Given the description of an element on the screen output the (x, y) to click on. 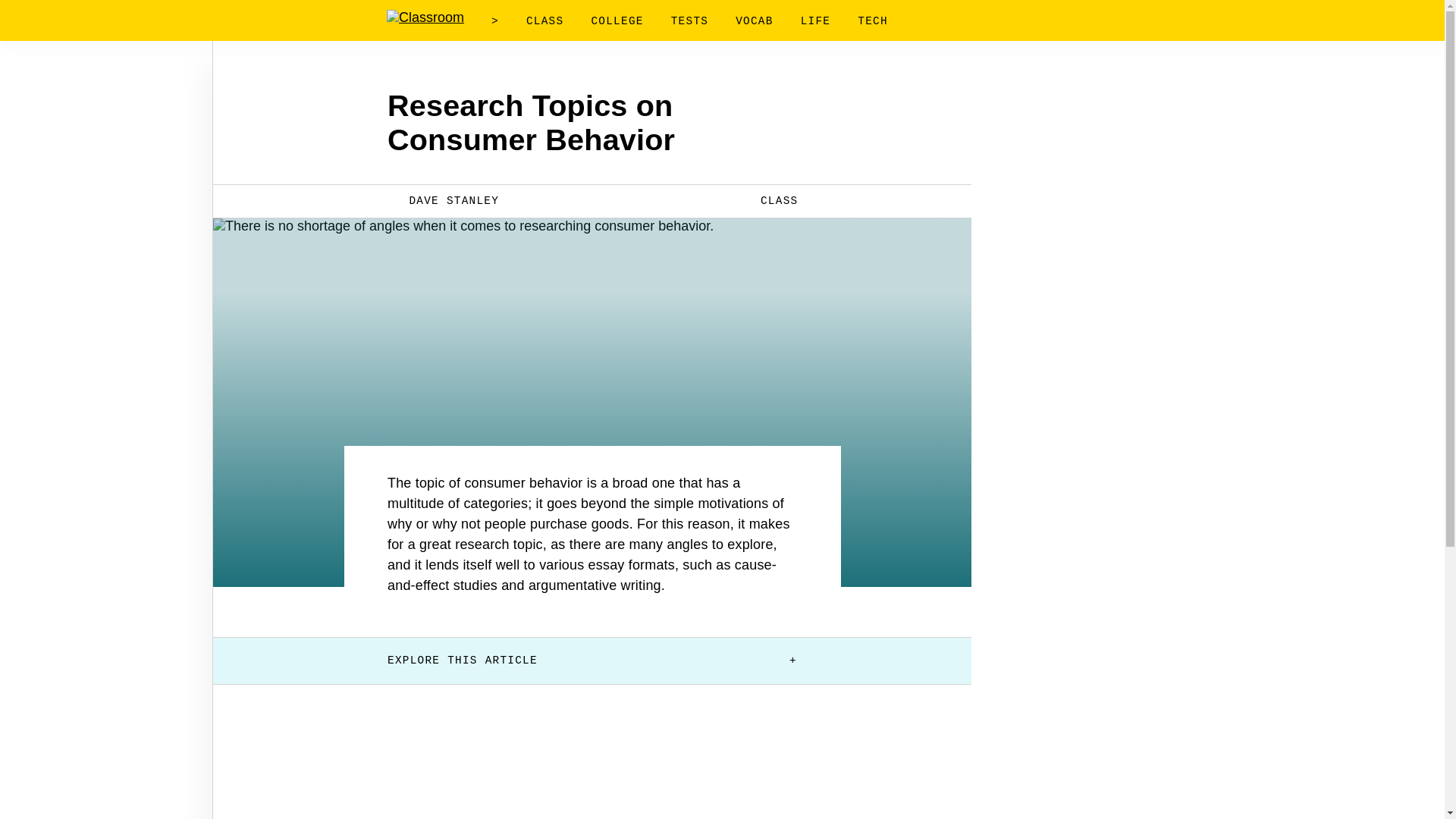
LIFE (815, 21)
COLLEGE (617, 21)
CLASS (768, 200)
VOCAB (754, 21)
CLASS (544, 21)
TECH (872, 21)
TESTS (689, 21)
